Given the description of an element on the screen output the (x, y) to click on. 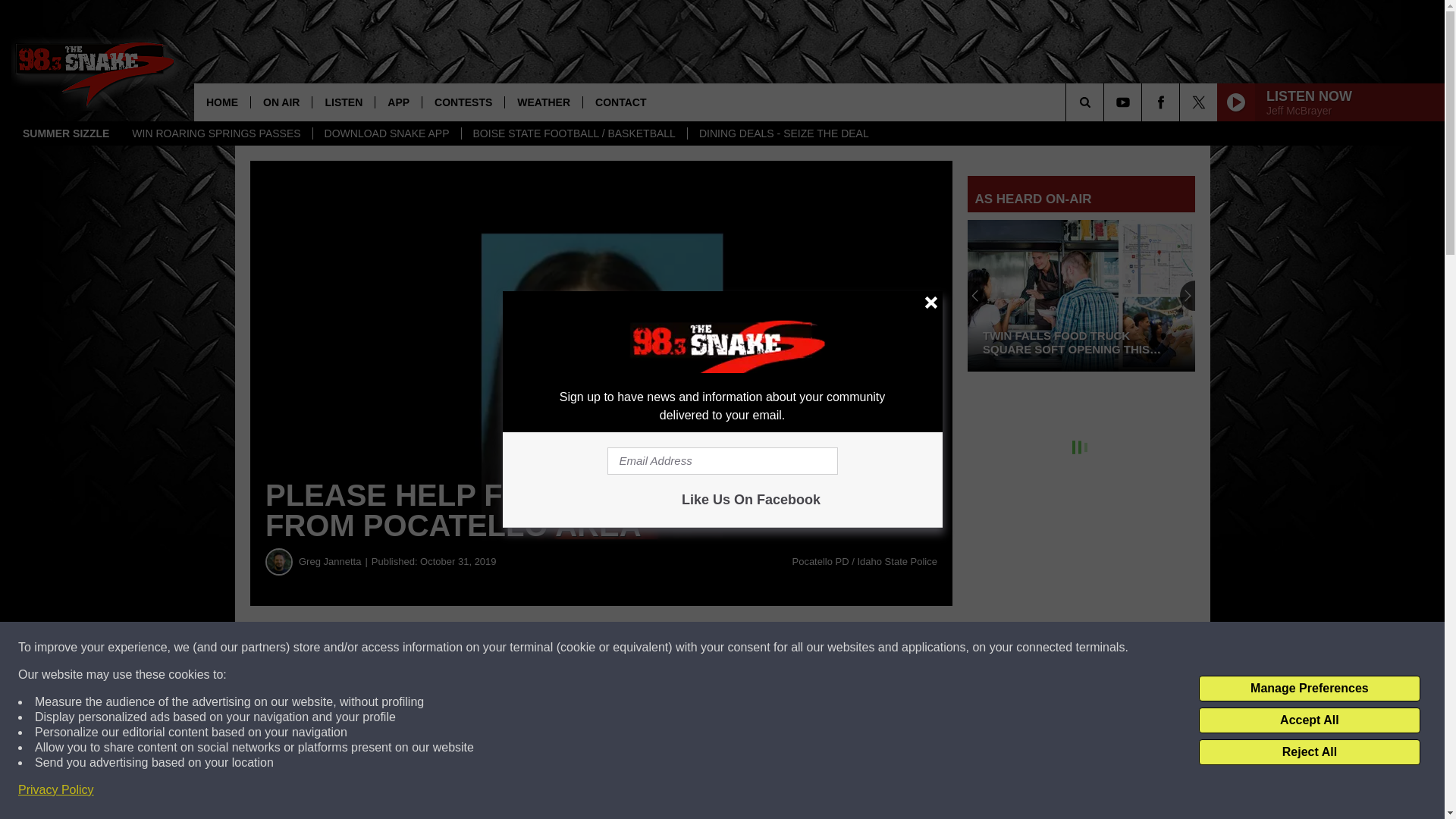
LISTEN (342, 102)
WEATHER (542, 102)
Accept All (1309, 720)
CONTESTS (462, 102)
SUMMER SIZZLE (65, 133)
HOME (221, 102)
ON AIR (280, 102)
Share on Facebook (460, 647)
DINING DEALS - SEIZE THE DEAL (783, 133)
Share on Twitter (741, 647)
WIN ROARING SPRINGS PASSES (215, 133)
Reject All (1309, 751)
Manage Preferences (1309, 688)
SEARCH (1106, 102)
Email Address (722, 461)
